Given the description of an element on the screen output the (x, y) to click on. 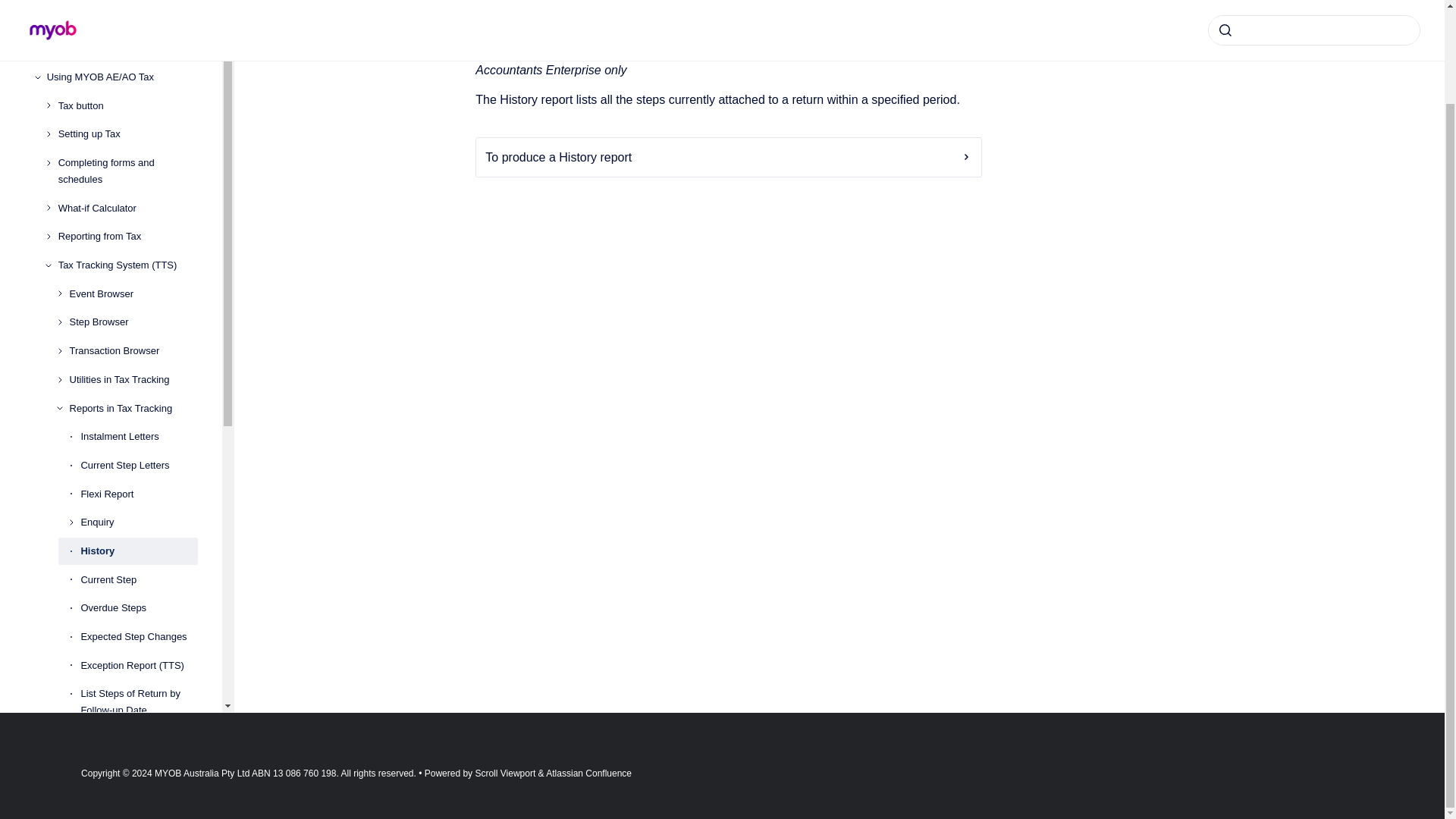
What-if Calculator (128, 207)
Completing forms and schedules (128, 171)
Tax button (128, 105)
Flexi Report (139, 493)
Income tax returns (122, 20)
Setting up Tax (128, 134)
Event Browser (133, 293)
Step Browser (133, 322)
Welcome to MYOB Tax (122, 2)
Utilities in Tax Tracking (133, 379)
